Given the description of an element on the screen output the (x, y) to click on. 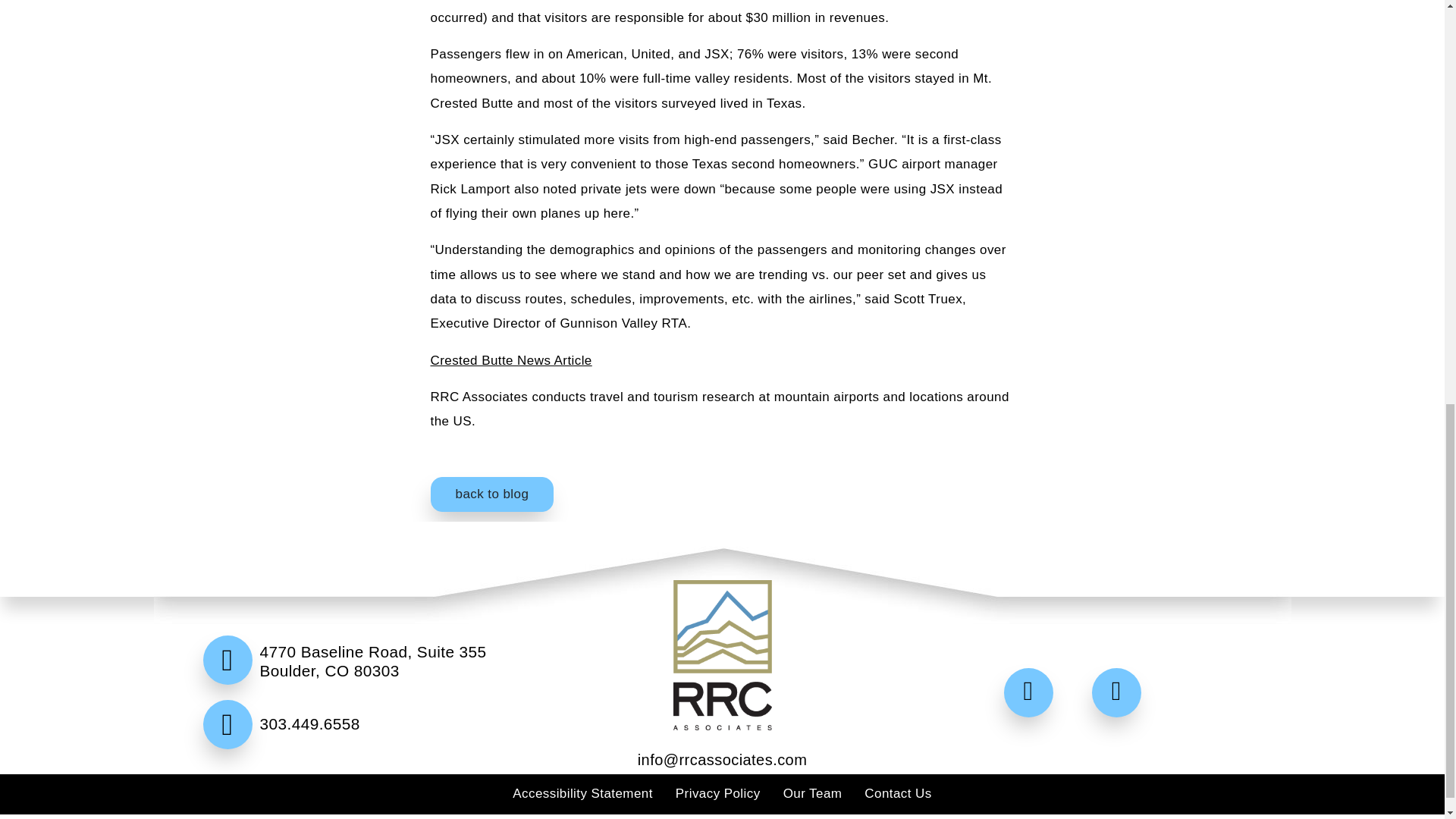
Contact Us (897, 793)
RRC Associates on LinkedIn (1120, 693)
303.449.6558 (368, 758)
4770 Baseline Road, Suite 355 Boulder, CO 80303 (368, 670)
Privacy Policy (717, 793)
RRC Associates on Twitter (1032, 693)
Our Team (813, 793)
back to blog (492, 493)
Crested Butte News Article (511, 359)
Accessibility Statement (582, 793)
